Given the description of an element on the screen output the (x, y) to click on. 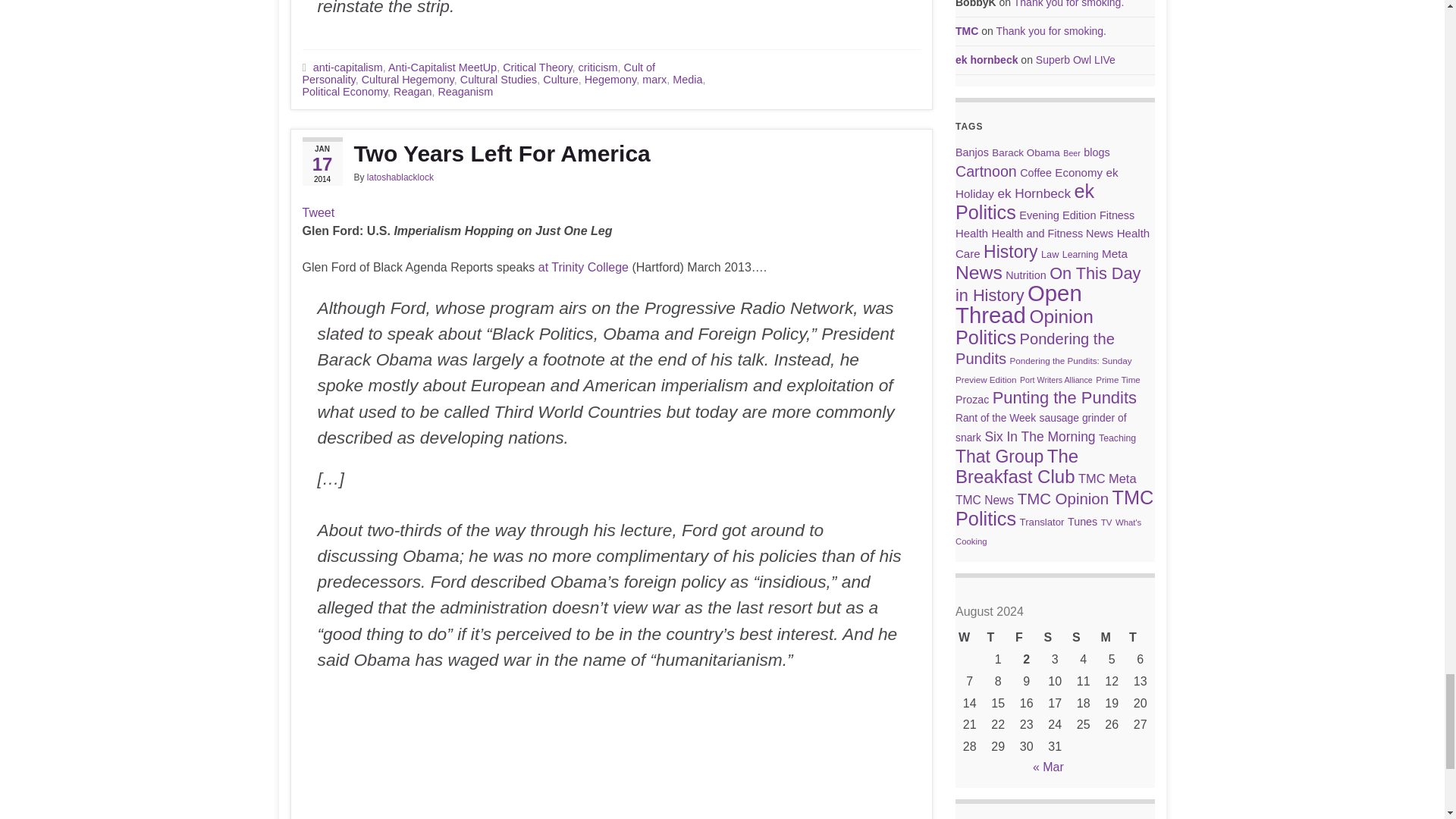
Saturday (1054, 638)
Friday (1026, 638)
Wednesday (969, 638)
Monday (1111, 638)
Sunday (1082, 638)
Thursday (998, 638)
Permalink to Two Years Left For America (610, 153)
